Given the description of an element on the screen output the (x, y) to click on. 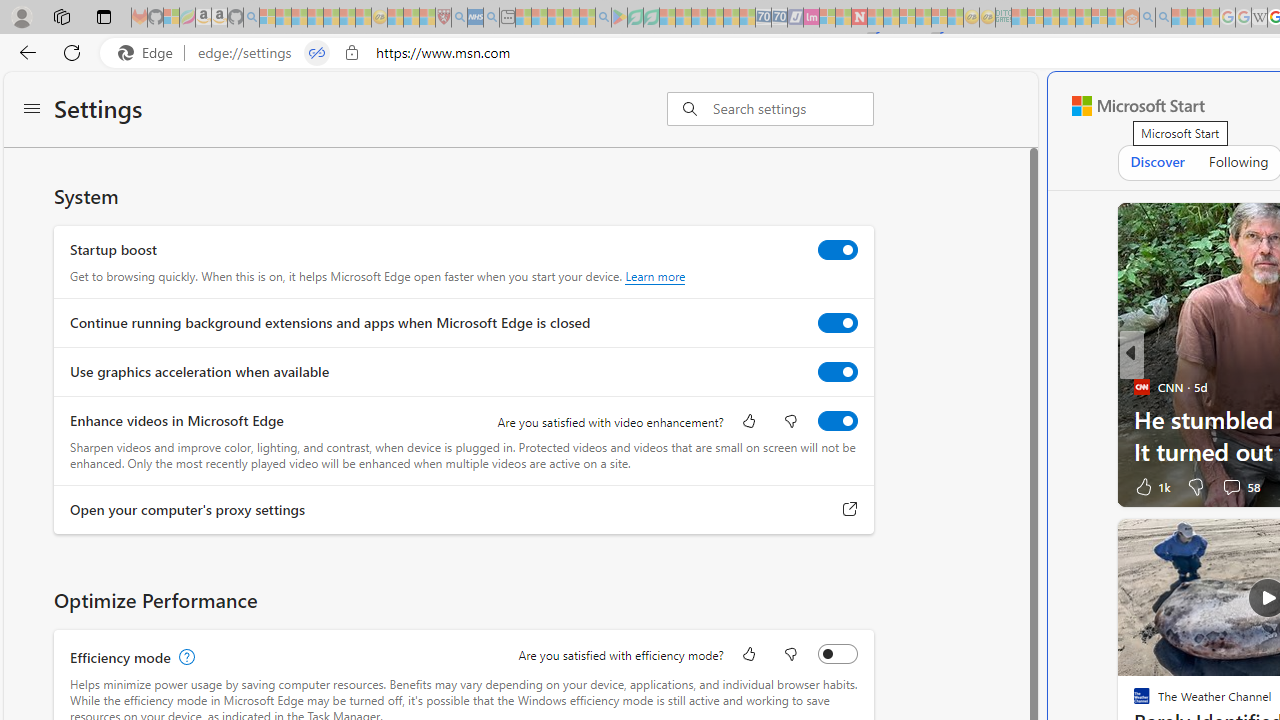
Search settings (791, 109)
1k Like (1151, 486)
Tabs in split screen (317, 53)
5 Nuts Your Dogs Can Eat Safely, and 4 to Avoid (814, 450)
Cheap Hotels - Save70.com - Sleeping (779, 17)
New Report Confirms 2023 Was Record Hot | Watch - Sleeping (331, 17)
